Given the description of an element on the screen output the (x, y) to click on. 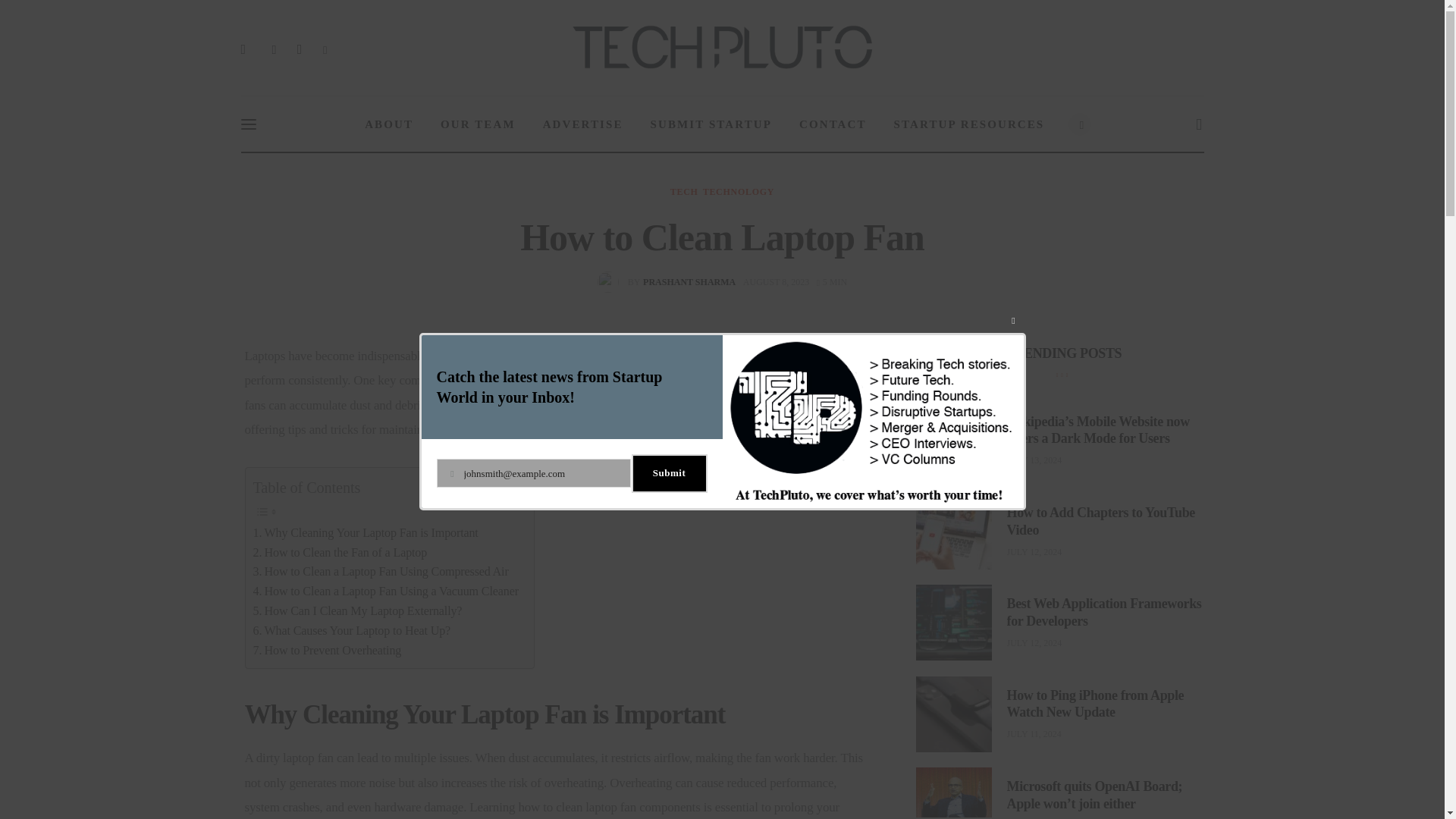
How Can I Clean My Laptop Externally? (358, 610)
How to Prevent Overheating (327, 650)
How to Clean the Fan of a Laptop (340, 552)
How to Clean a Laptop Fan Using Compressed Air (380, 571)
TECHNOLOGY (738, 191)
Why Cleaning Your Laptop Fan is Important (366, 532)
OUR TEAM (477, 124)
TECH (669, 281)
SUBMIT STARTUP (683, 191)
What Causes Your Laptop to Heat Up? (711, 124)
ADVERTISE (352, 630)
STARTUP RESOURCES (583, 124)
How to Clean a Laptop Fan Using a Vacuum Cleaner (969, 124)
CONTACT (385, 591)
